Given the description of an element on the screen output the (x, y) to click on. 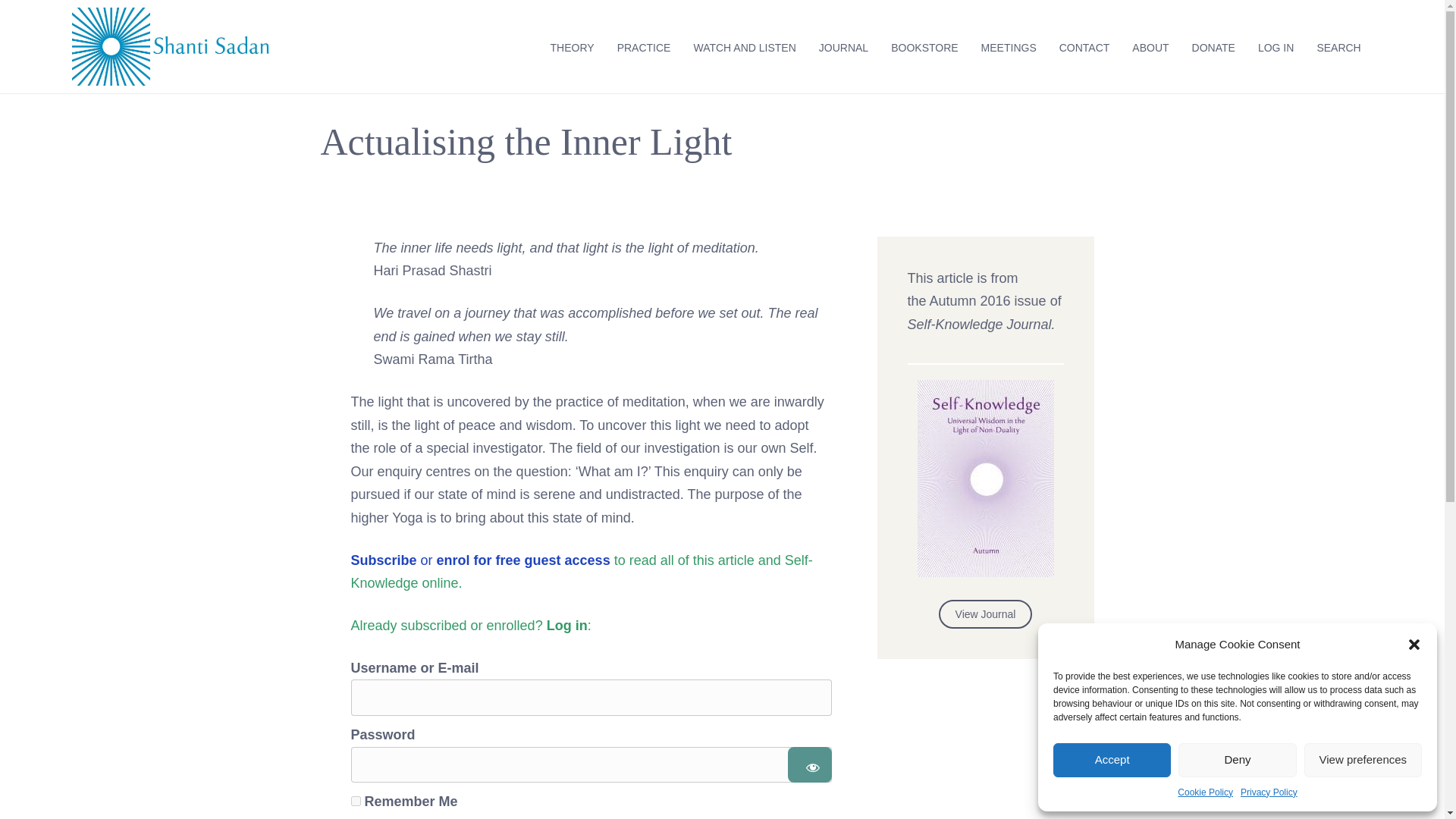
LOG IN (1275, 48)
forever (354, 800)
WATCH AND LISTEN (743, 48)
DONATE (1213, 48)
PRACTICE (643, 48)
CONTACT (1084, 48)
MEETINGS (1008, 48)
THEORY (571, 48)
Accept (1111, 759)
ABOUT (1150, 48)
